Given the description of an element on the screen output the (x, y) to click on. 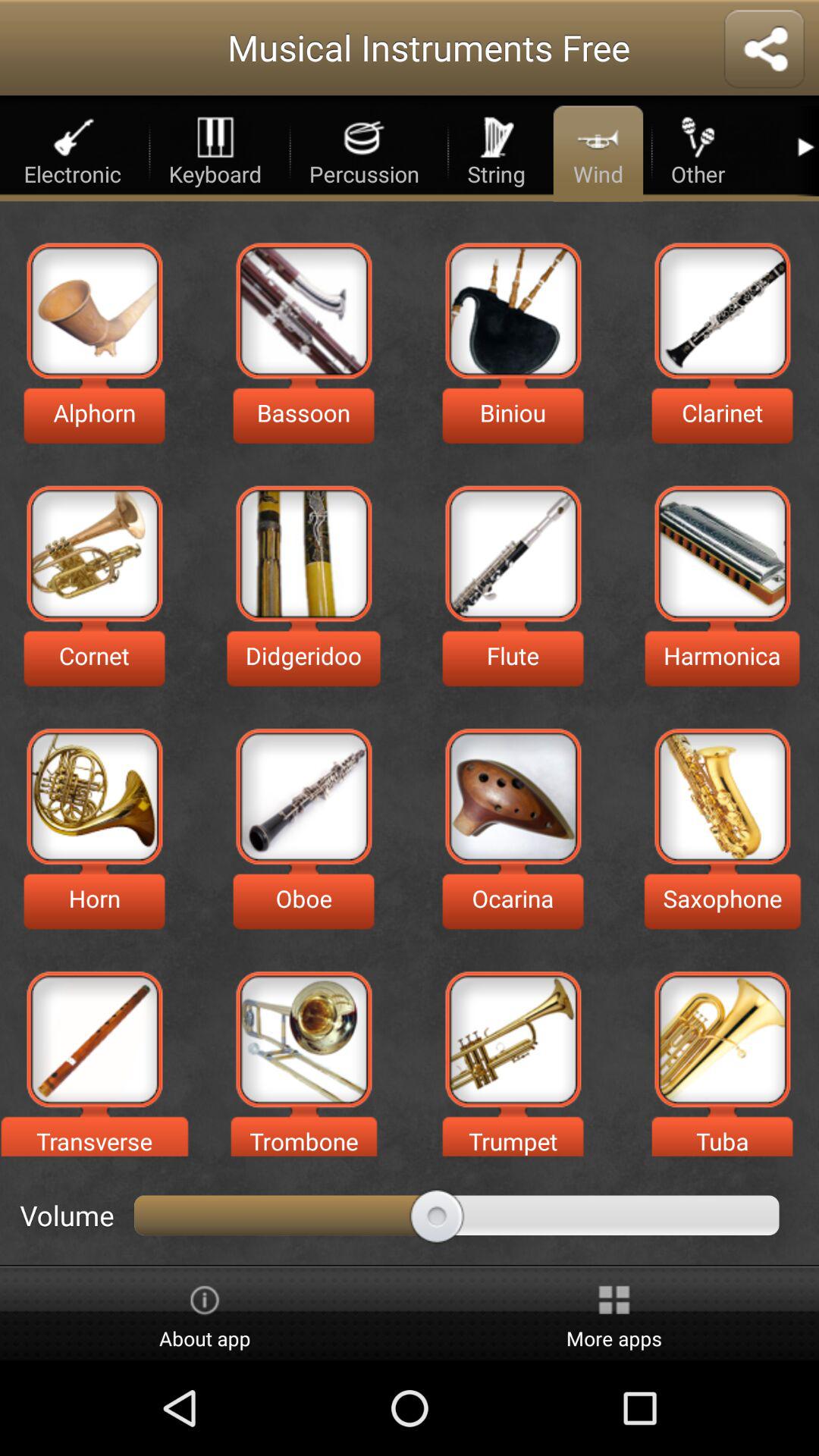
go to oboe (303, 796)
